Given the description of an element on the screen output the (x, y) to click on. 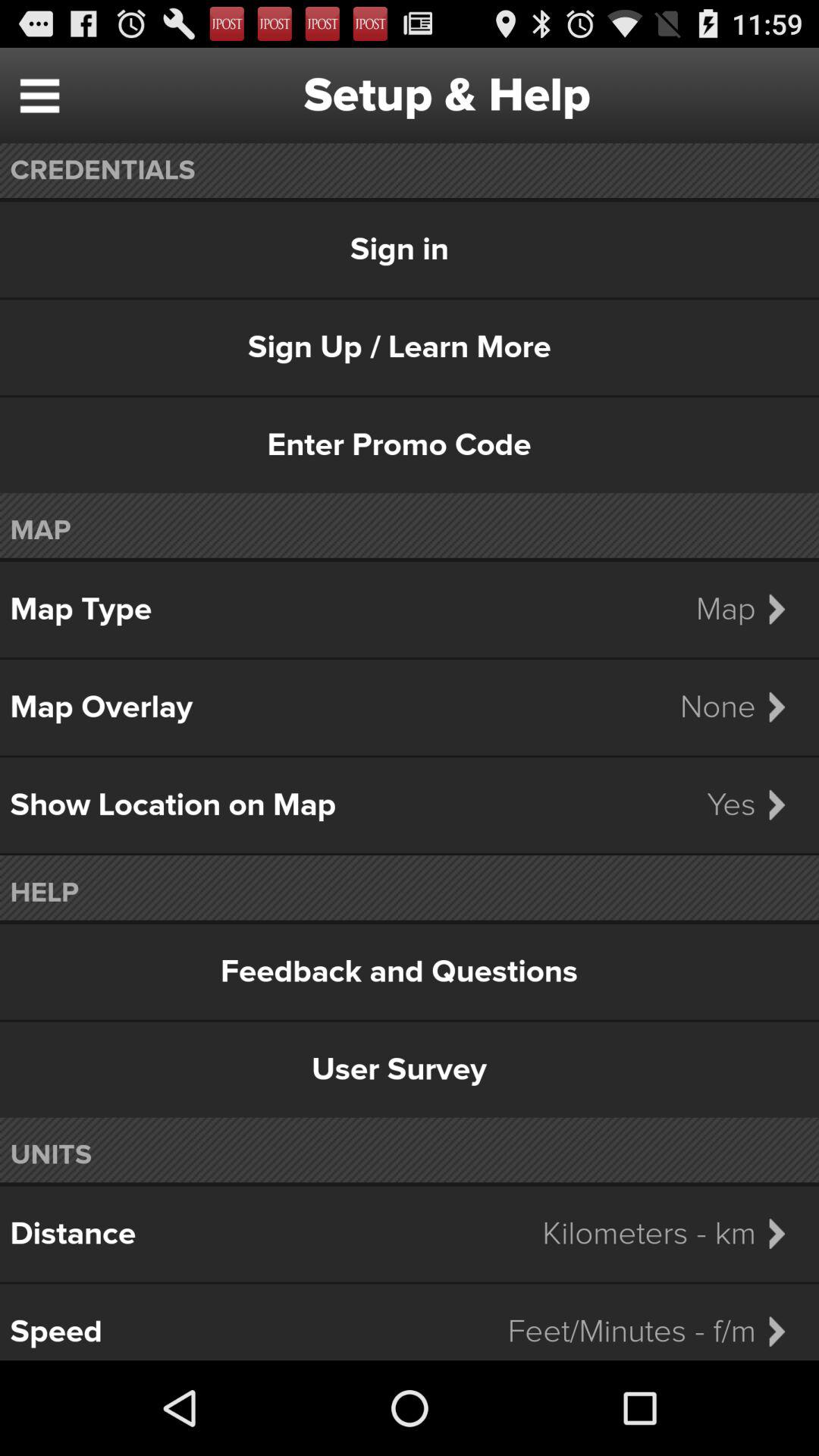
tap the item above the map icon (409, 445)
